Given the description of an element on the screen output the (x, y) to click on. 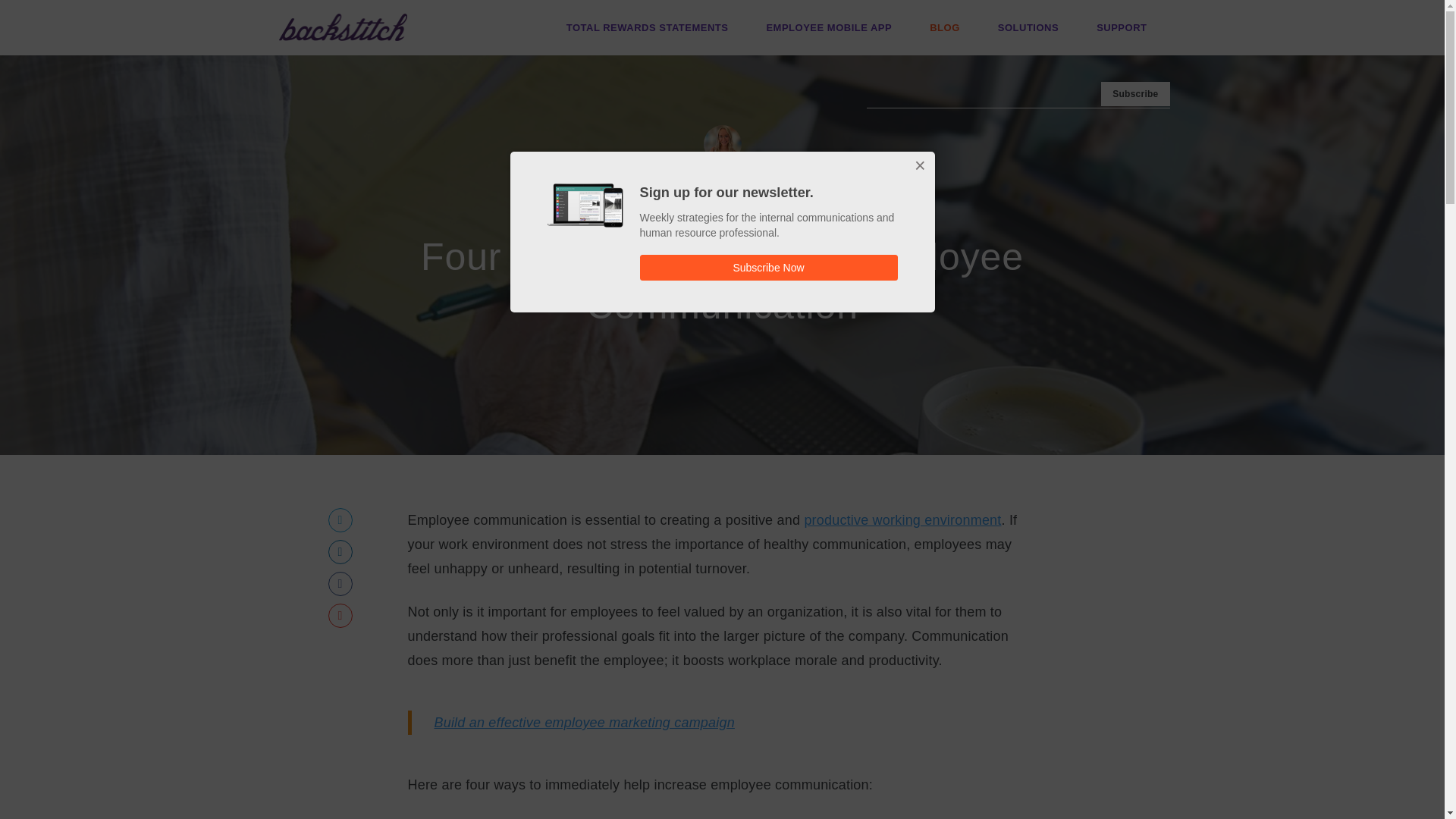
productive working environment (902, 519)
Build an effective employee marketing campaign (583, 722)
BLOG (944, 27)
Sydnie Fultz (727, 183)
SUPPORT (1121, 27)
EMPLOYEE MOBILE APP (828, 27)
Subscribe (1134, 93)
SOLUTIONS (1027, 27)
TOTAL REWARDS STATEMENTS (647, 27)
INTERNAL COMMUNICATIONS (722, 217)
Subscribe (1134, 93)
backstitch purple logo (343, 26)
